Given the description of an element on the screen output the (x, y) to click on. 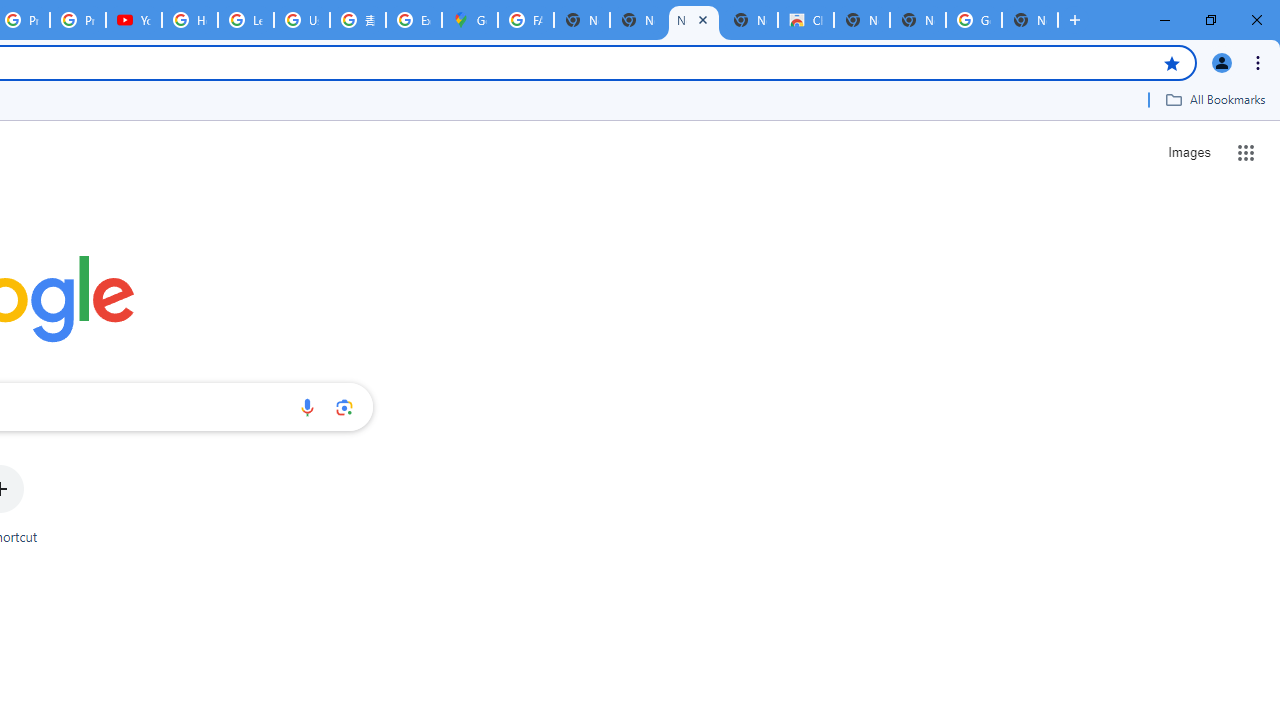
Chrome Web Store (806, 20)
Privacy Checkup (77, 20)
How Chrome protects your passwords - Google Chrome Help (189, 20)
Google Maps (469, 20)
New Tab (917, 20)
